Given the description of an element on the screen output the (x, y) to click on. 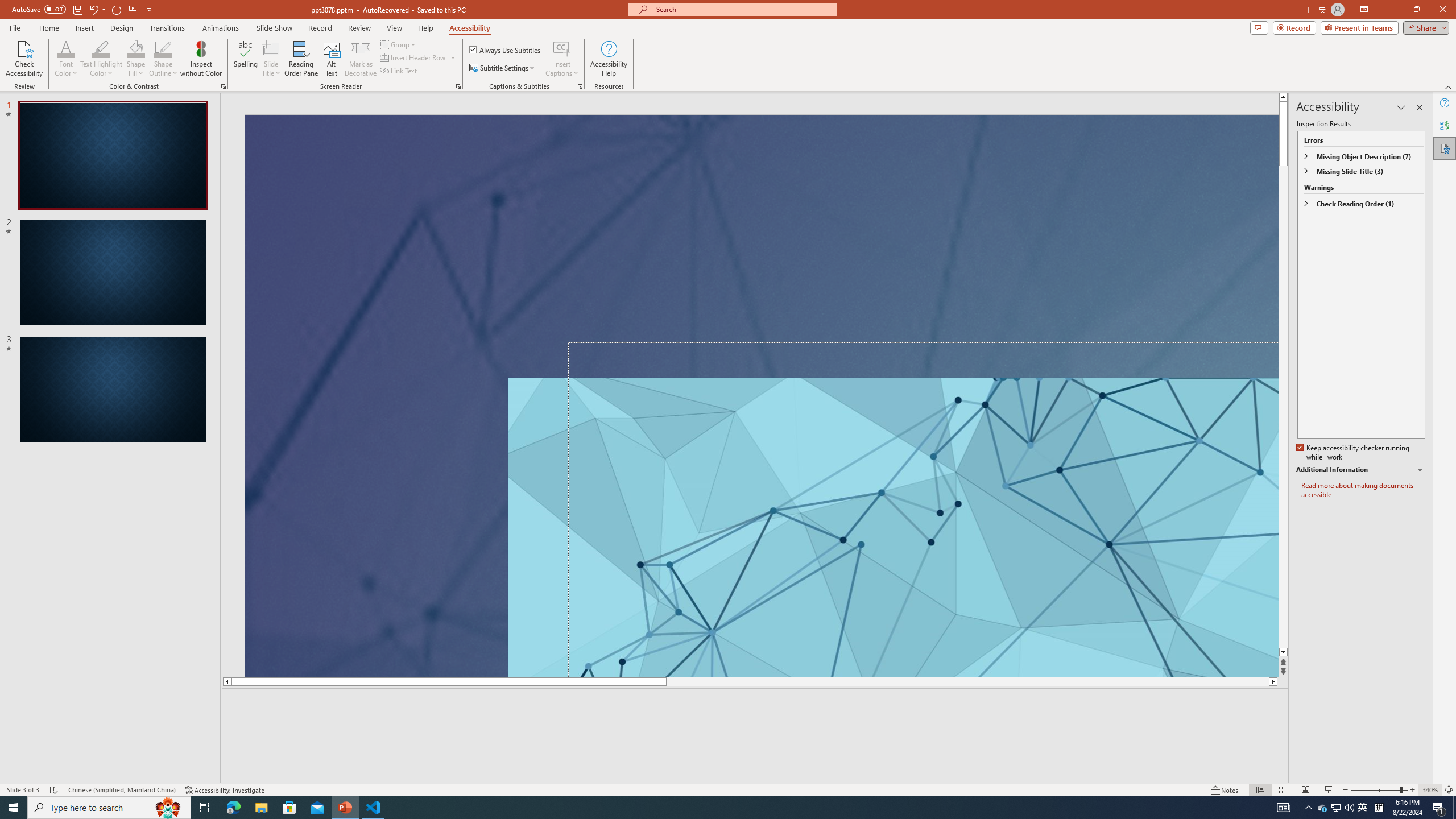
Captions & Subtitles (580, 85)
Check Accessibility (23, 58)
Keep accessibility checker running while I work (1353, 452)
